Given the description of an element on the screen output the (x, y) to click on. 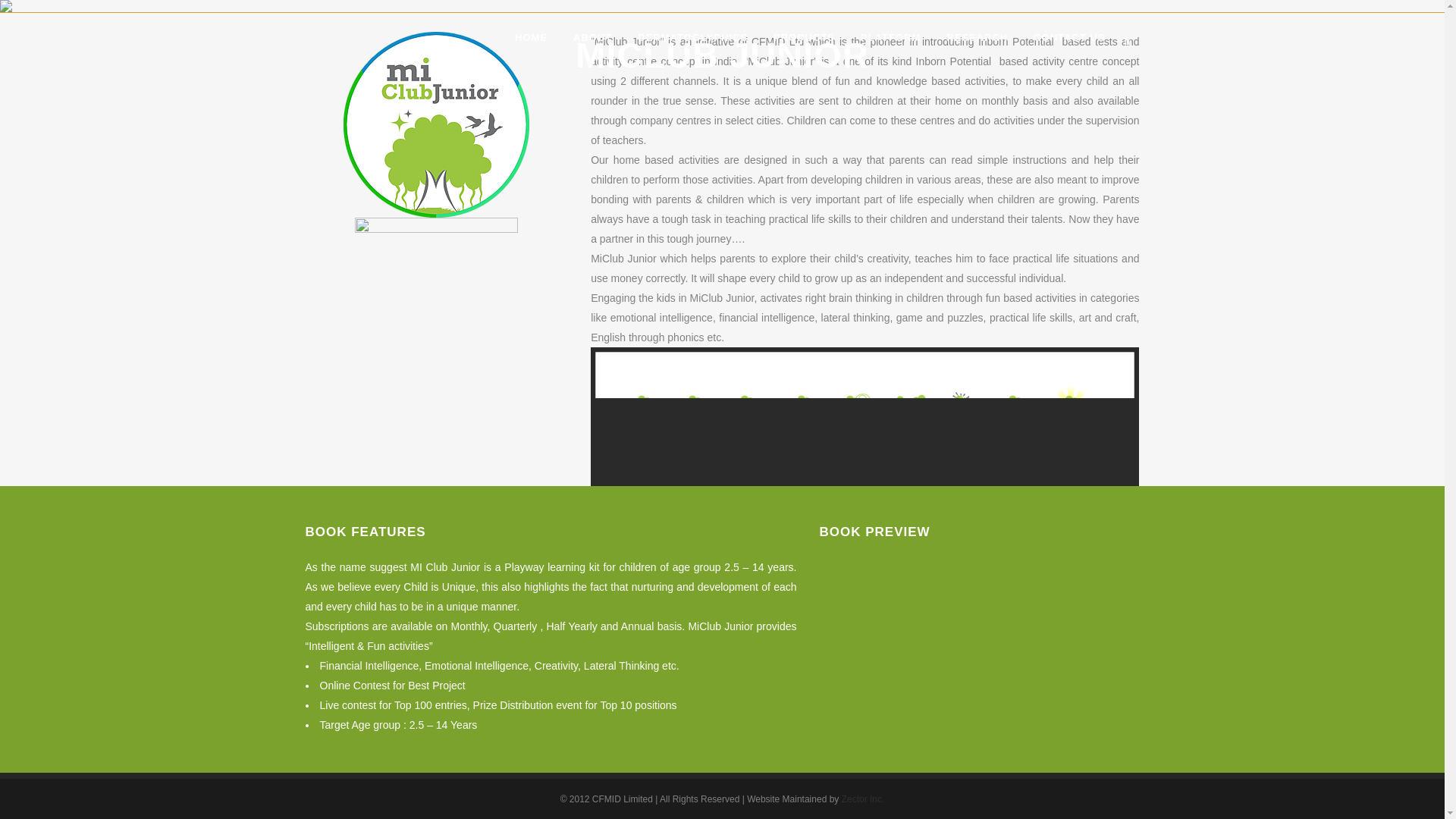
RESEARCH (976, 38)
CONTACT US (1069, 38)
PRODUCTS (803, 38)
PLATFORM (890, 38)
DERMATOGLYPHICS (692, 38)
